Given the description of an element on the screen output the (x, y) to click on. 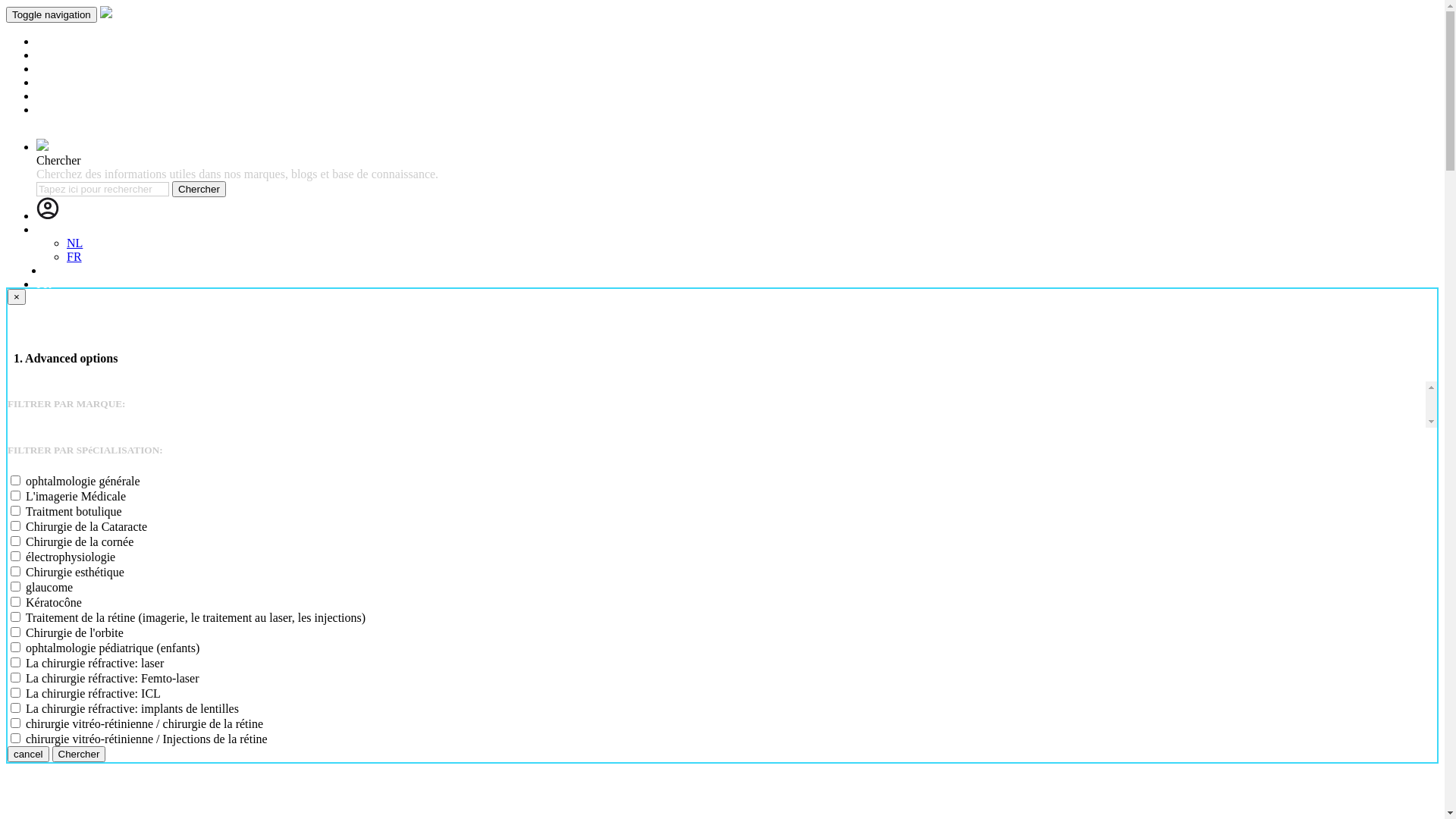
fr Element type: text (40, 228)
NL Element type: text (51, 269)
Blog Element type: text (47, 81)
Chercher Element type: text (79, 754)
Chercher un professionnel Element type: text (100, 40)
Toggle navigation Element type: text (51, 14)
Connectez-vous Element type: text (86, 215)
cancel Element type: text (28, 754)
NL Element type: text (74, 242)
Marques Element type: text (57, 54)
Placer une annonce Element type: text (83, 109)
FR Element type: text (43, 283)
FR Element type: text (73, 256)
Chercher Element type: text (198, 189)
